Given the description of an element on the screen output the (x, y) to click on. 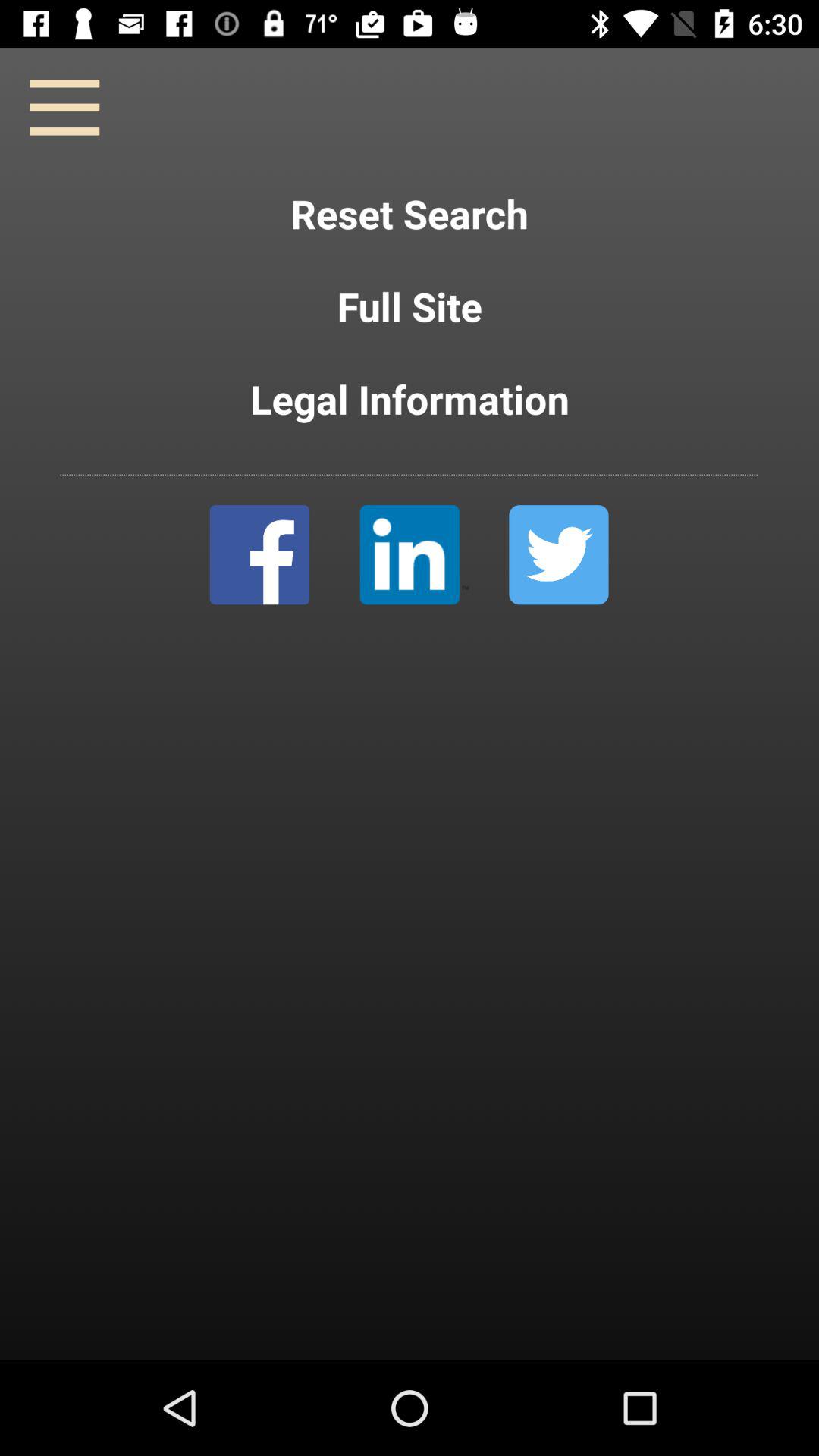
facebook image (259, 554)
